Given the description of an element on the screen output the (x, y) to click on. 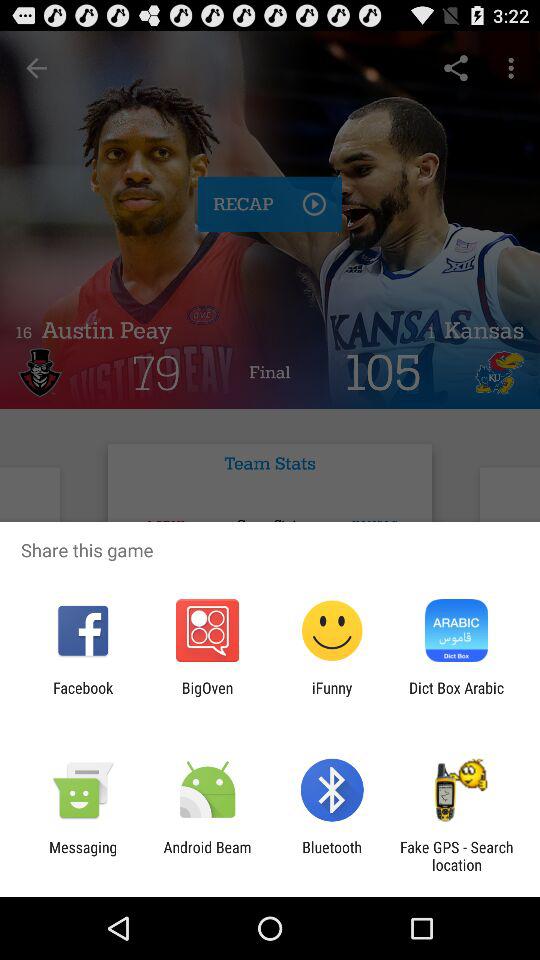
open the app to the right of messaging (207, 856)
